Given the description of an element on the screen output the (x, y) to click on. 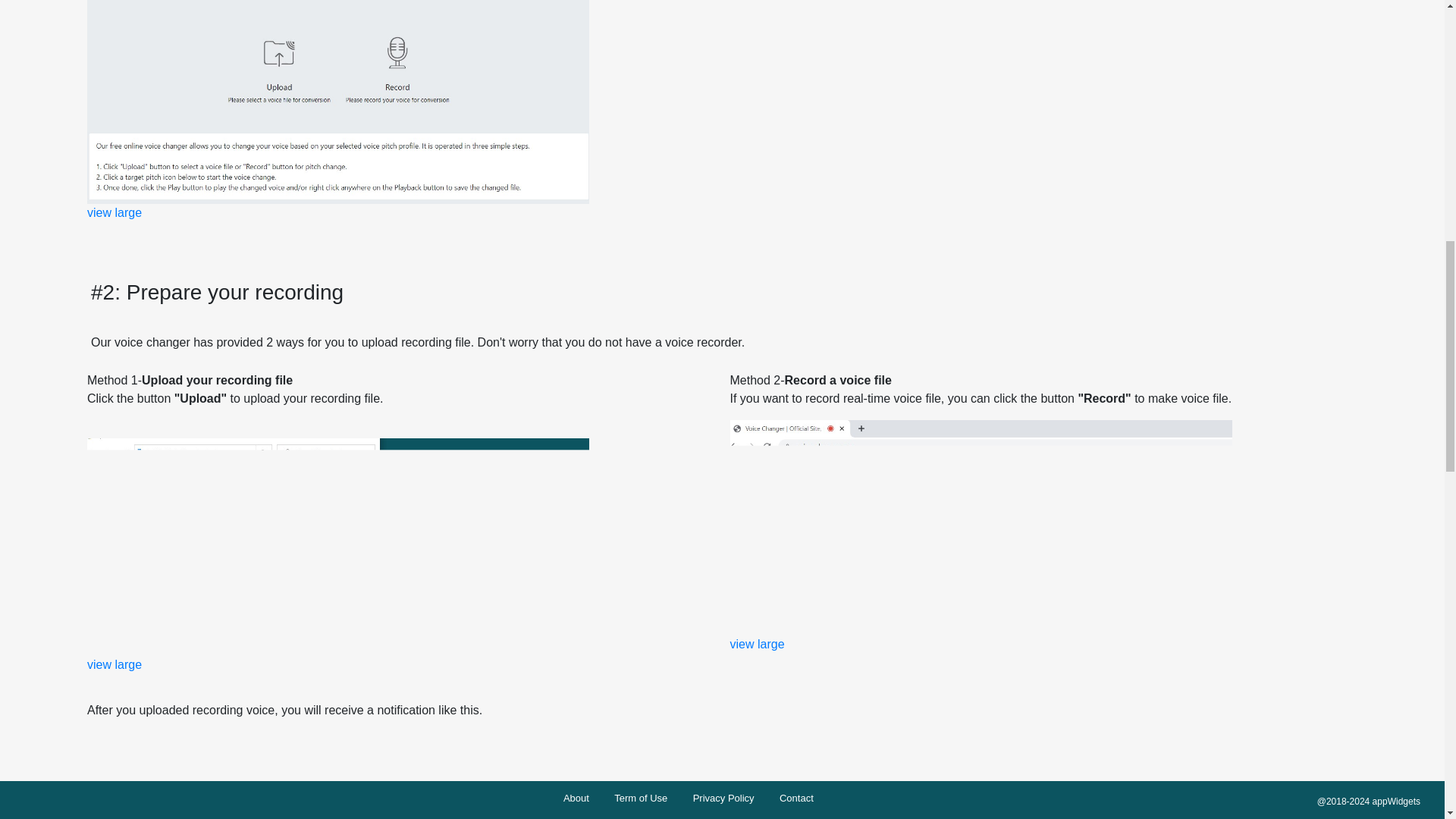
view large (114, 664)
view large (756, 644)
view large (114, 212)
